Given the description of an element on the screen output the (x, y) to click on. 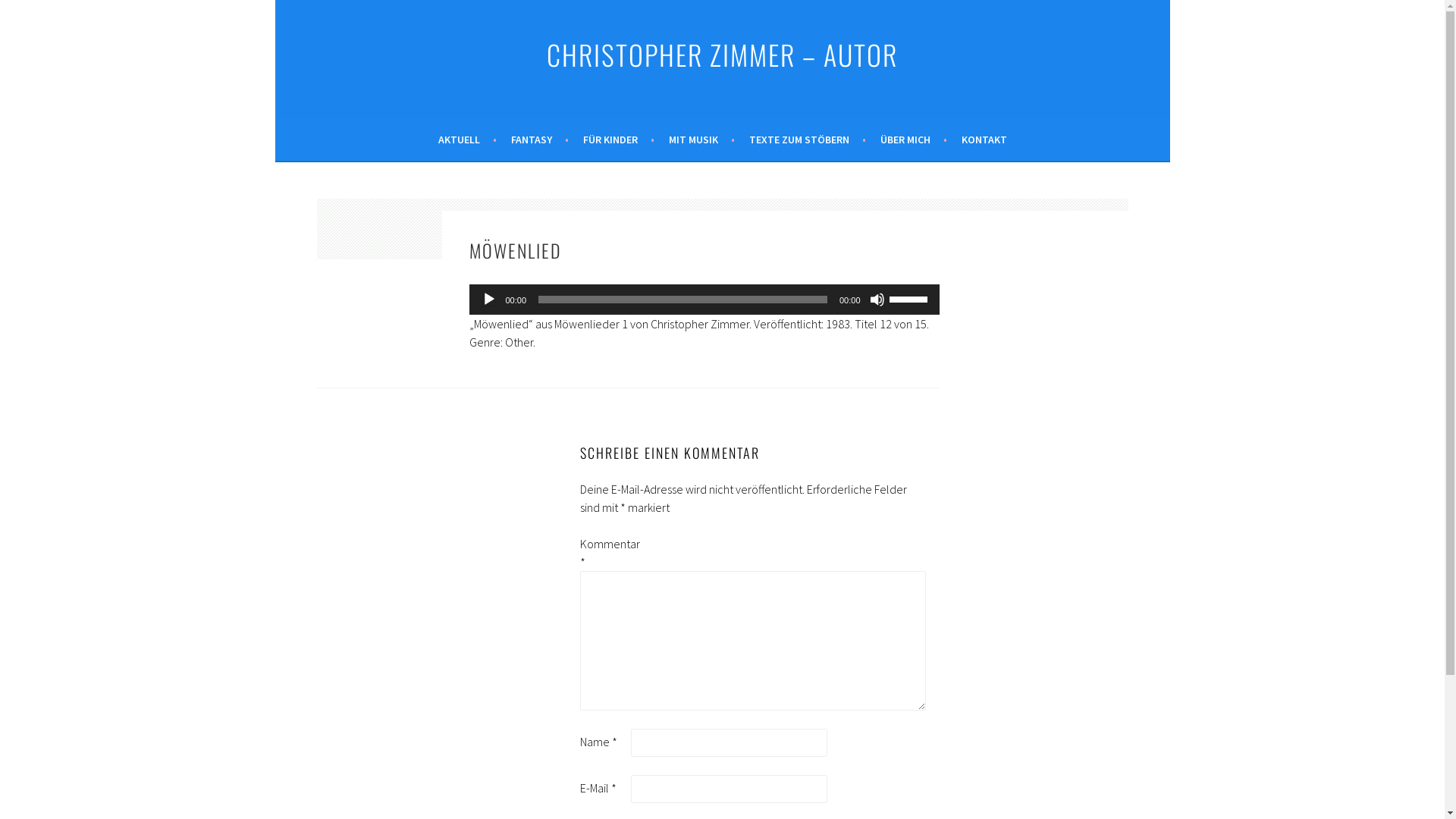
KONTAKT Element type: text (984, 139)
Abspielen Element type: hover (487, 299)
Stumm Element type: hover (876, 299)
AKTUELL Element type: text (467, 139)
FANTASY Element type: text (539, 139)
MIT MUSIK Element type: text (701, 139)
